Given the description of an element on the screen output the (x, y) to click on. 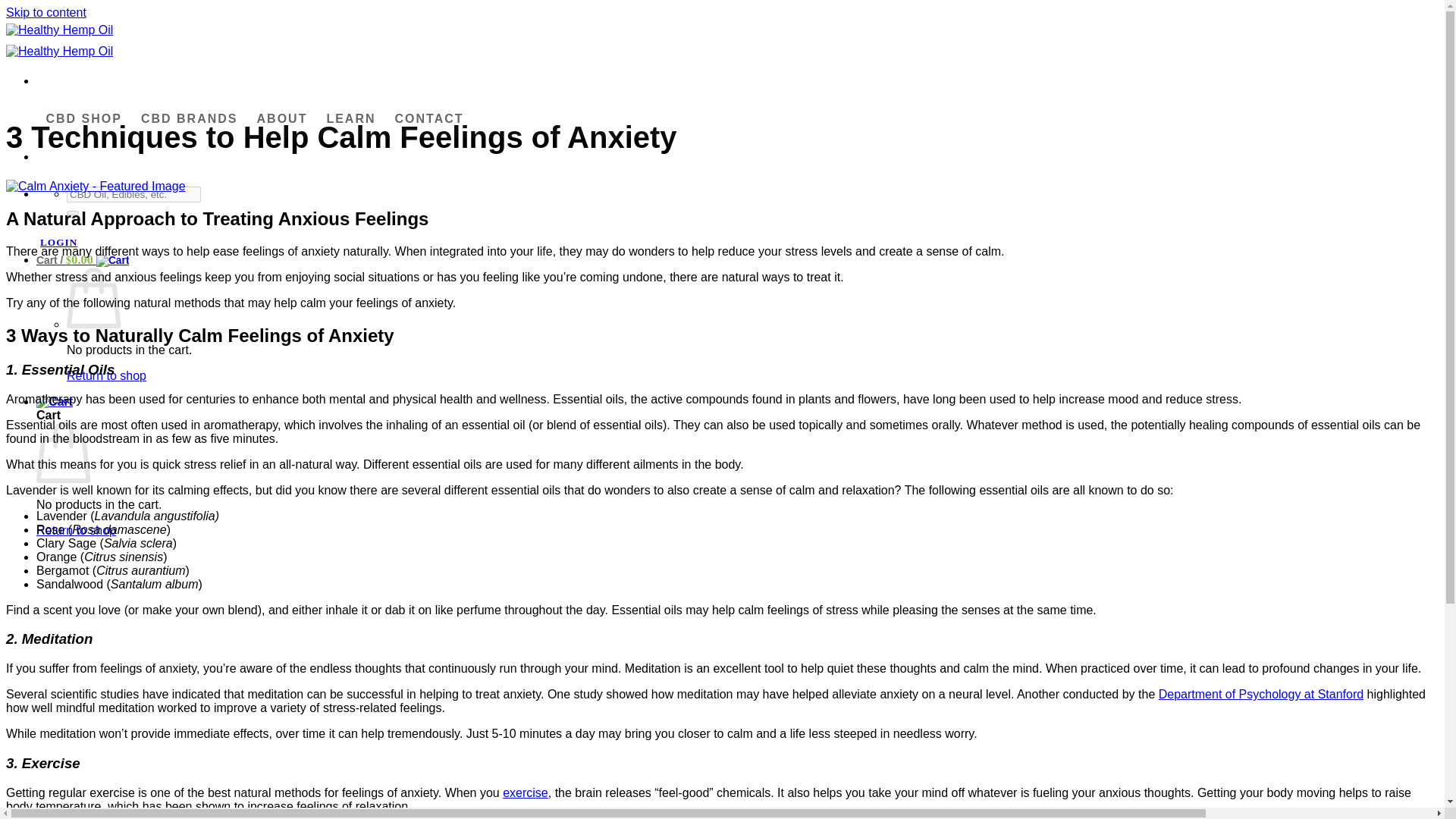
ABOUT (282, 118)
CBD SHOP (83, 118)
LEARN (349, 118)
Cart (82, 259)
Cart (54, 400)
CBD BRANDS (188, 118)
Skip to content (45, 11)
CONTACT (429, 118)
